Given the description of an element on the screen output the (x, y) to click on. 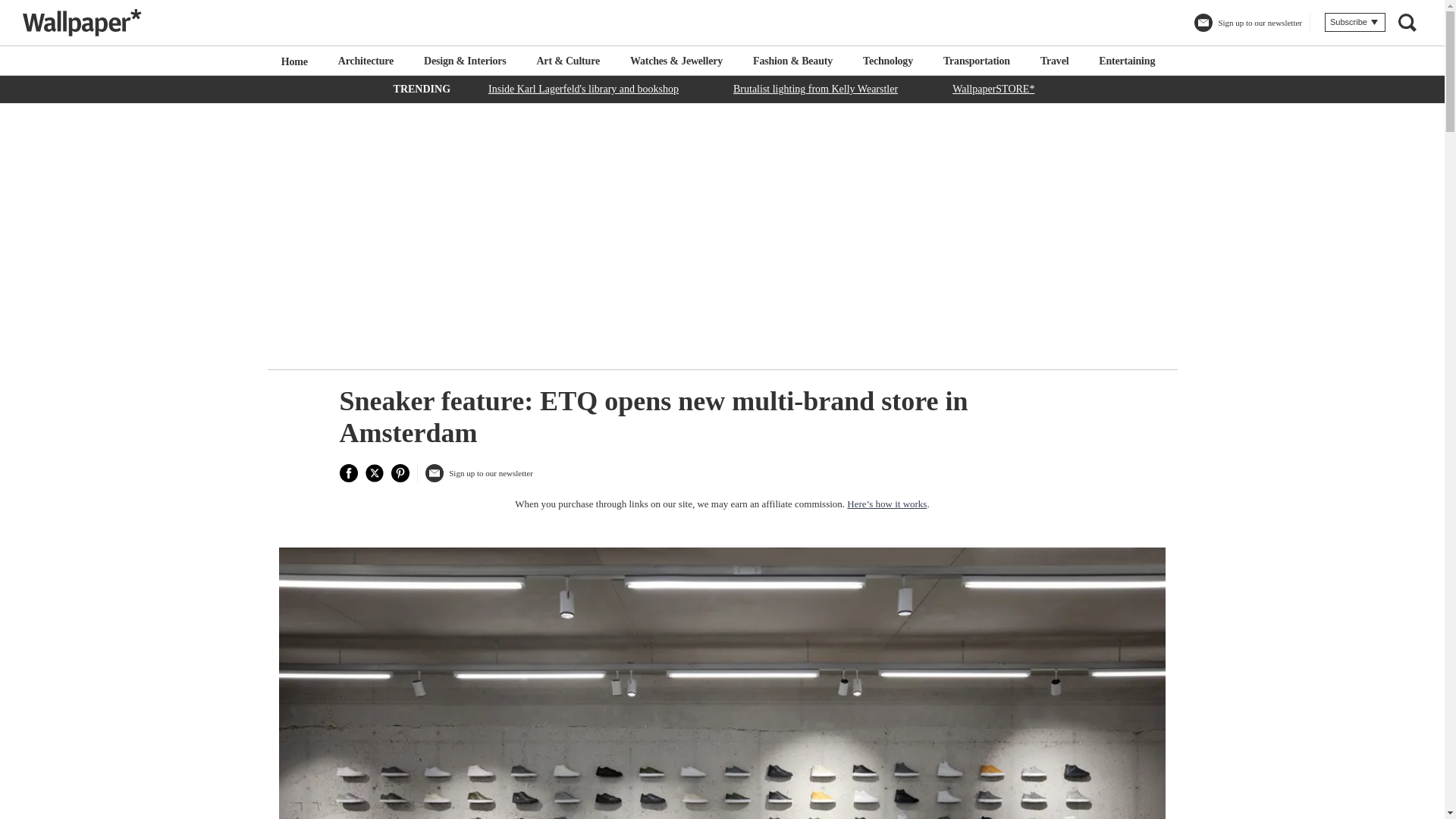
Inside Karl Lagerfeld's library and bookshop (583, 88)
Entertaining (1126, 60)
Brutalist lighting from Kelly Wearstler (815, 88)
Architecture (365, 60)
Sign up to our newsletter (1247, 28)
Travel (1054, 60)
Sign up to our newsletter (478, 479)
Technology (887, 60)
Transportation (976, 60)
